Given the description of an element on the screen output the (x, y) to click on. 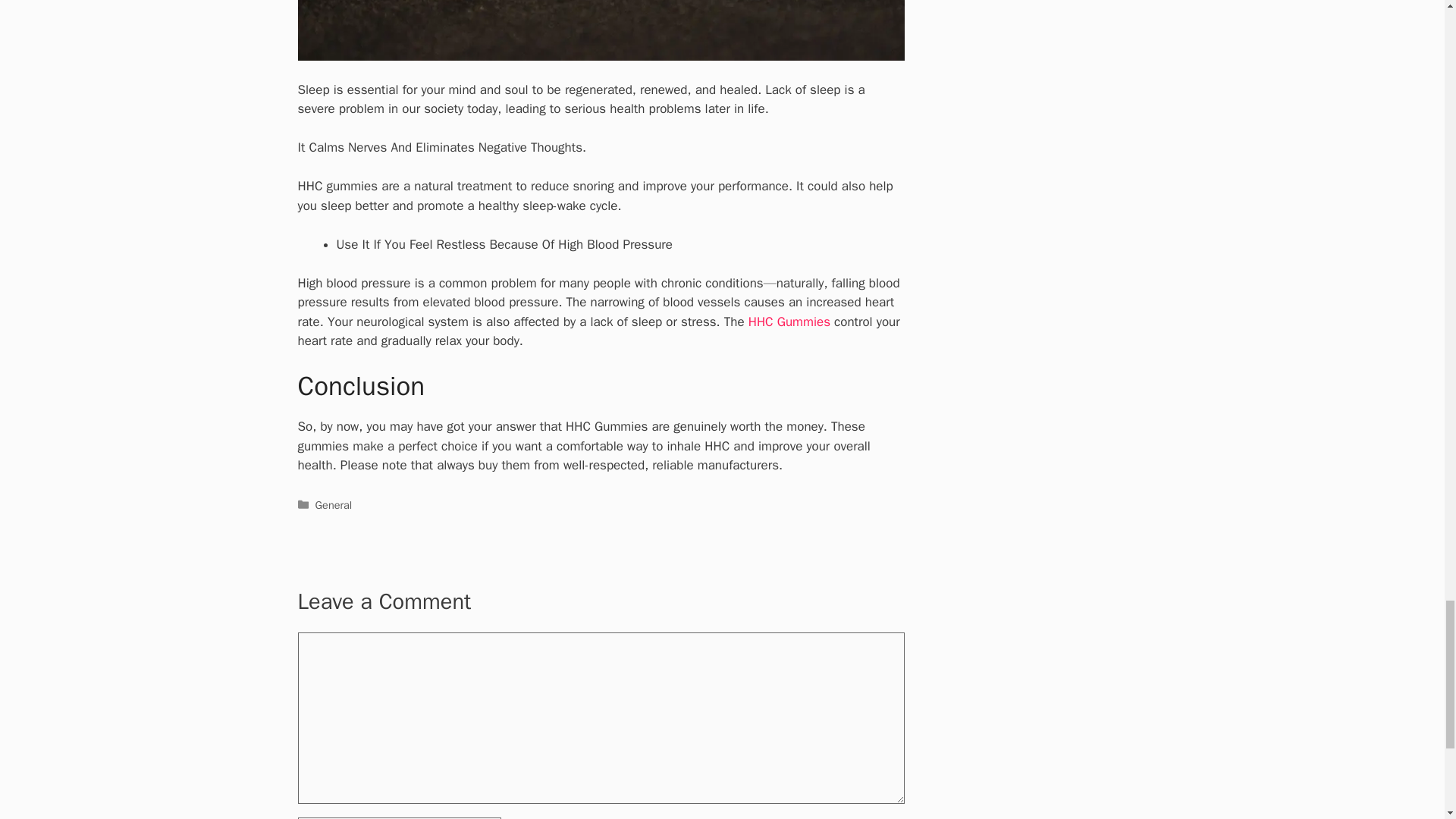
Why Are HHC Gummies Worth The Money? (600, 30)
General (333, 504)
HHC Gummies (788, 321)
